Given the description of an element on the screen output the (x, y) to click on. 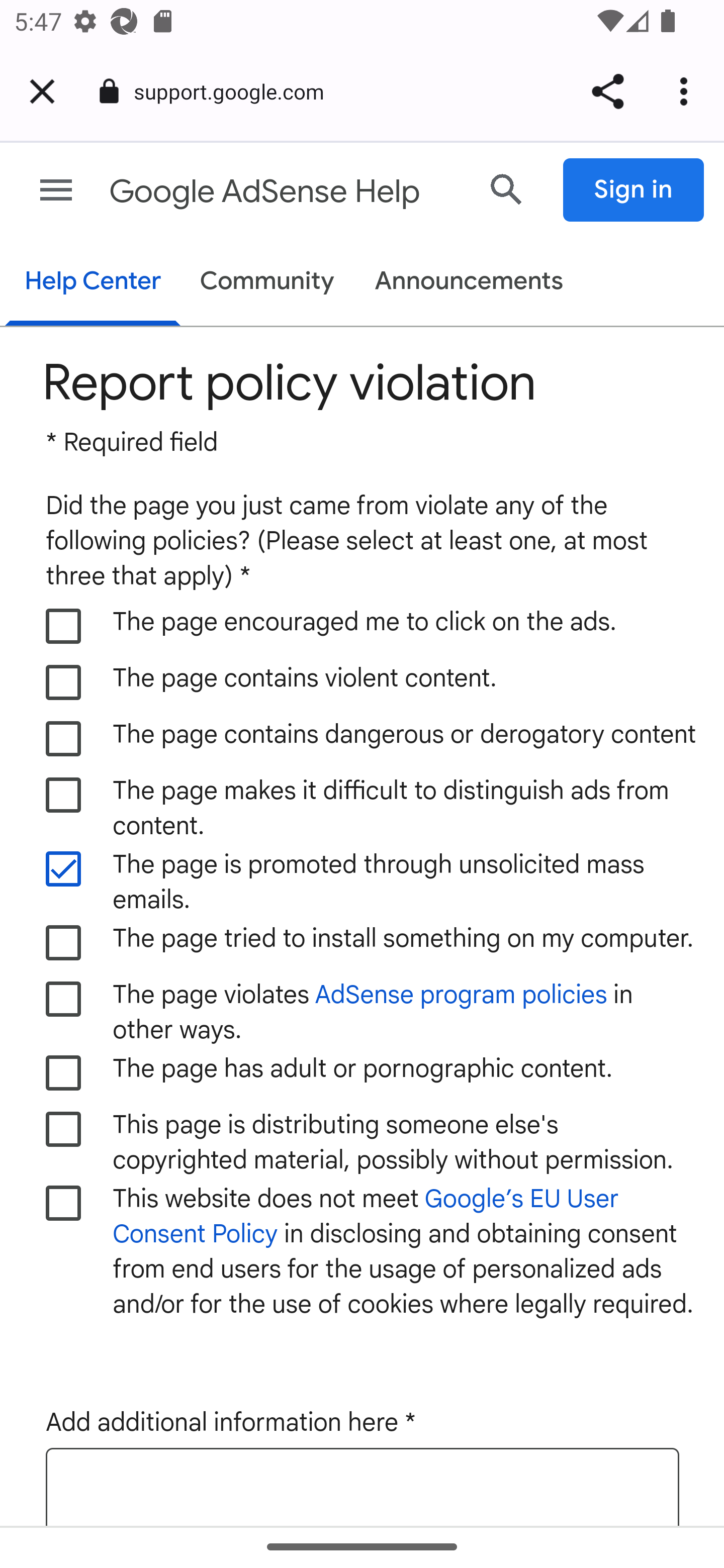
Close tab (42, 91)
Share (607, 91)
More options (687, 91)
Connection is secure (108, 91)
support.google.com (235, 90)
Main menu (56, 190)
Google AdSense Help (285, 191)
Search Help Center (506, 189)
Sign in (634, 190)
Help Center (92, 283)
Community (267, 281)
Announcements (468, 281)
The page encouraged me to click on the ads. (63, 626)
The page contains violent content. (63, 681)
The page contains dangerous or derogatory content (63, 739)
The page has adult or pornographic content. (63, 1073)
